Given the description of an element on the screen output the (x, y) to click on. 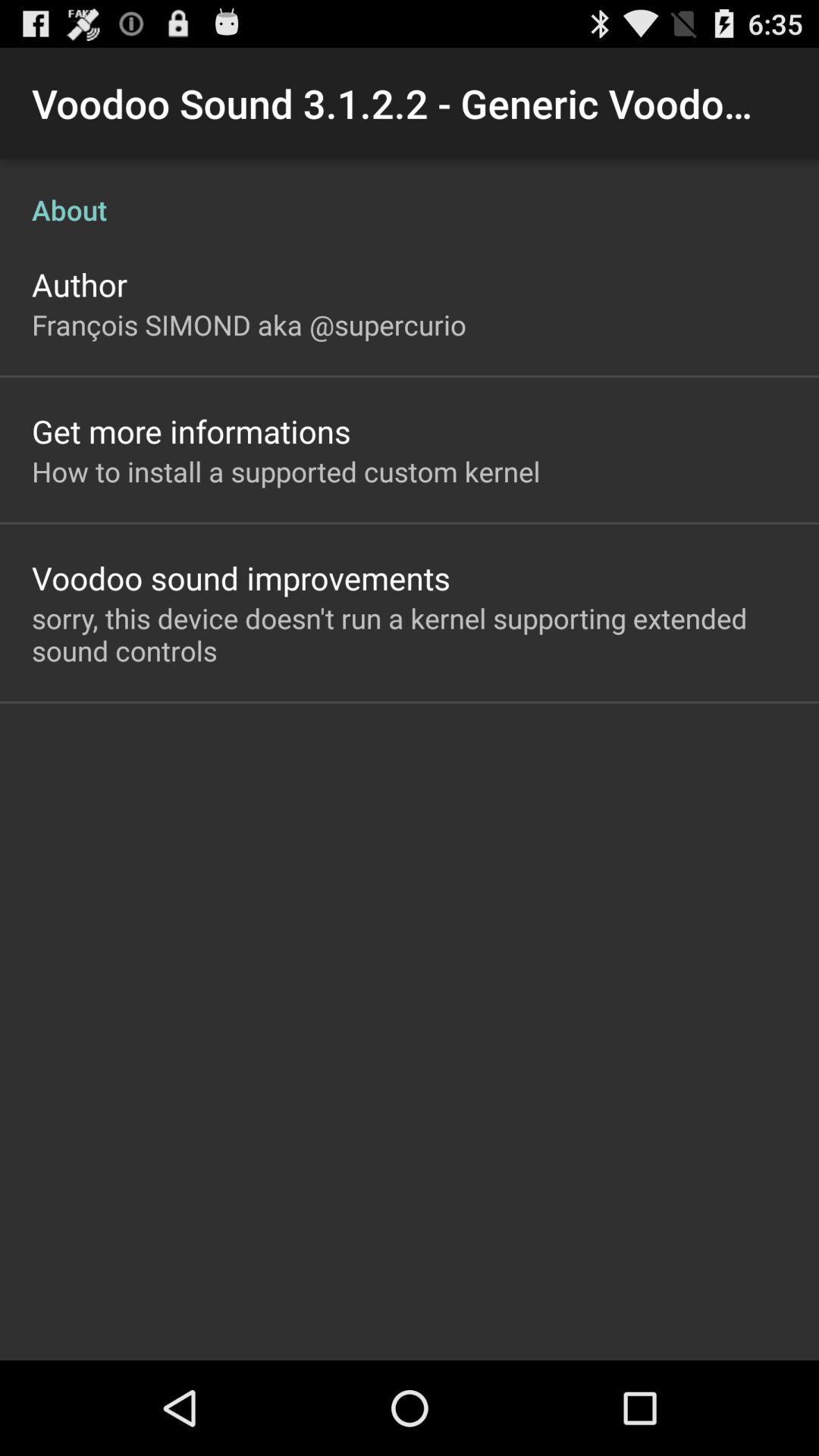
open about (409, 193)
